Given the description of an element on the screen output the (x, y) to click on. 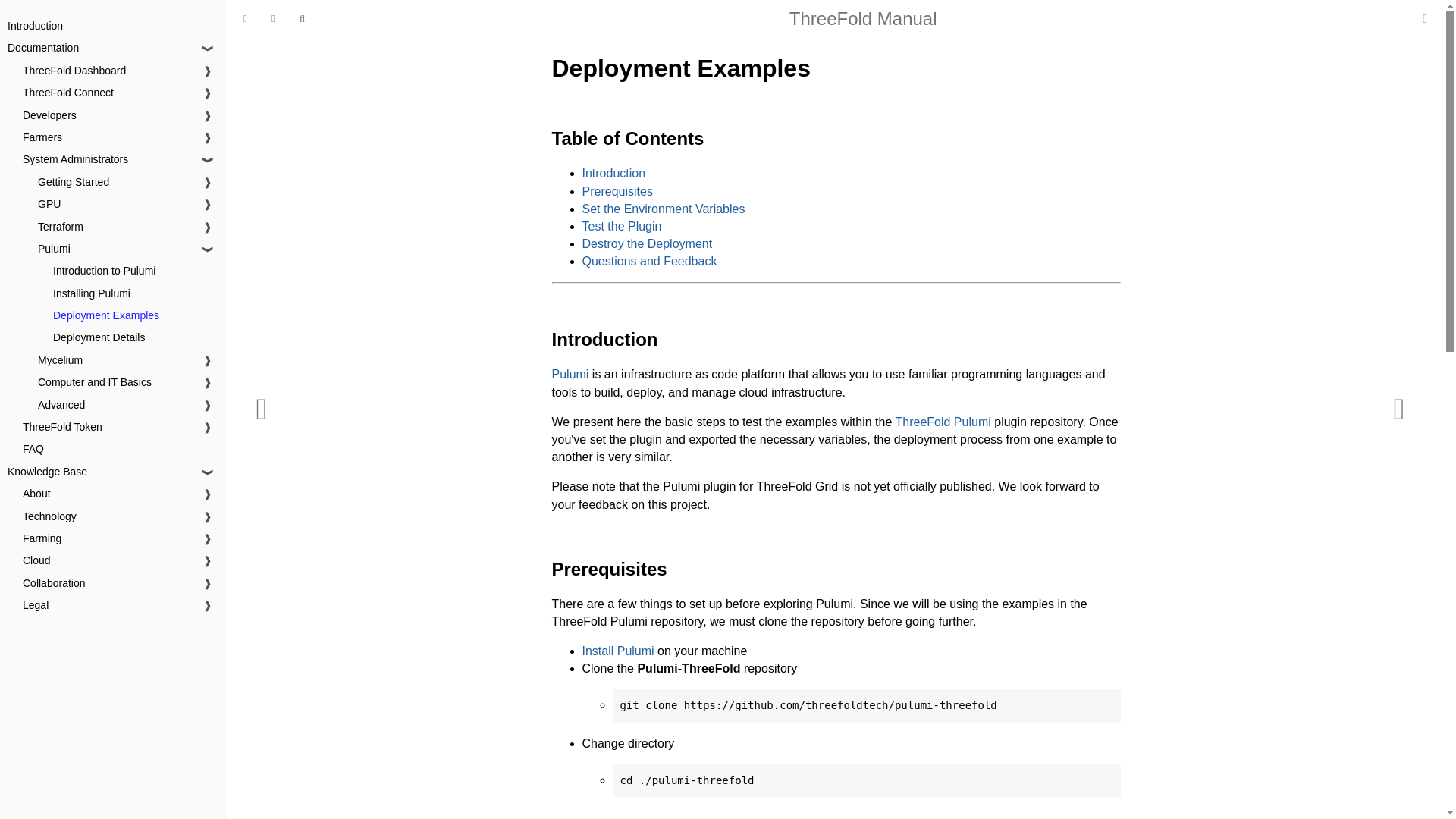
ThreeFold Dashboard (74, 70)
Introduction (34, 26)
ThreeFold Dashboard (1424, 18)
Documentation (42, 48)
